Given the description of an element on the screen output the (x, y) to click on. 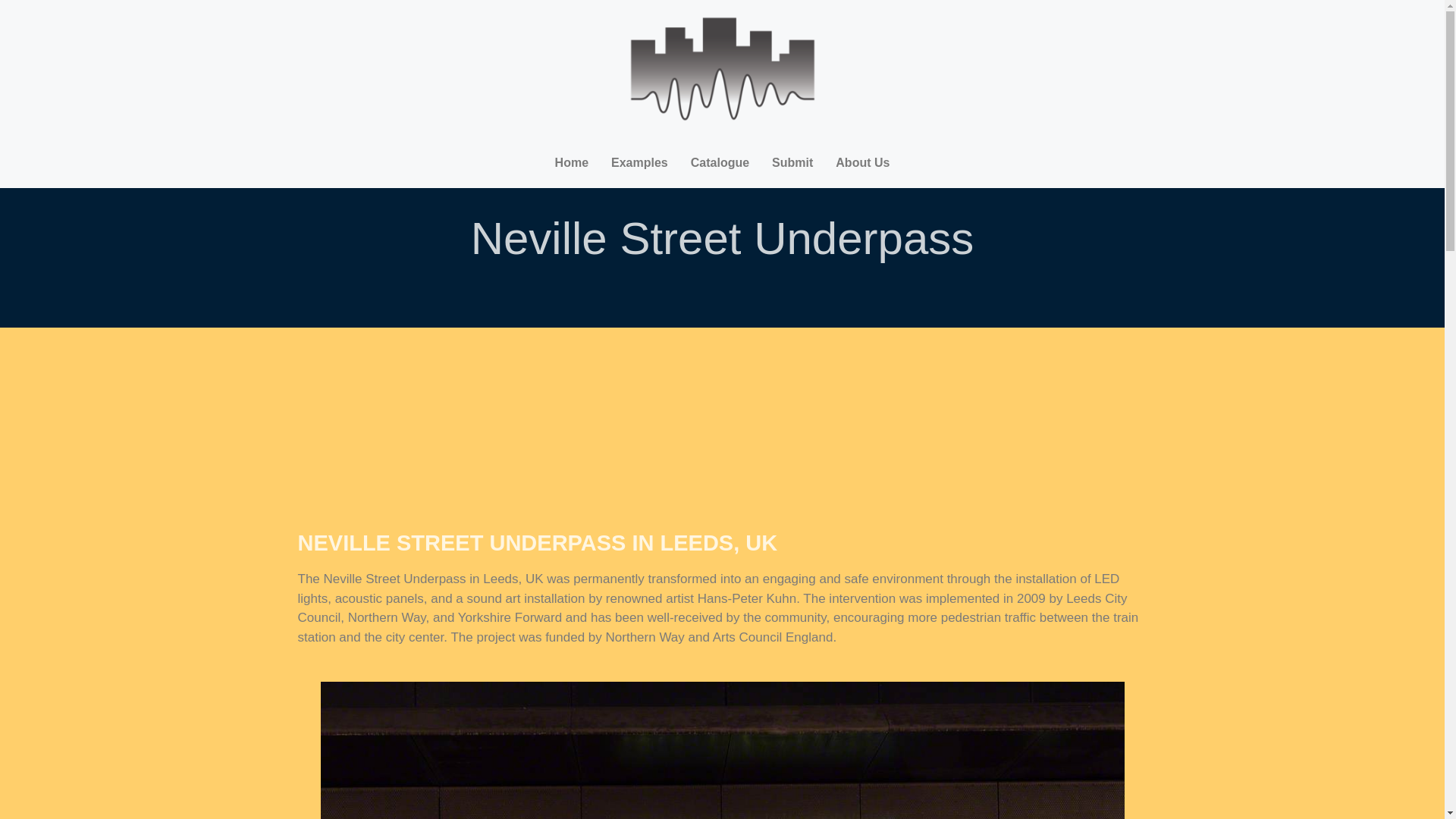
Submit (792, 162)
Home (571, 162)
Catalogue (719, 162)
Examples (639, 162)
About Us (862, 162)
